Given the description of an element on the screen output the (x, y) to click on. 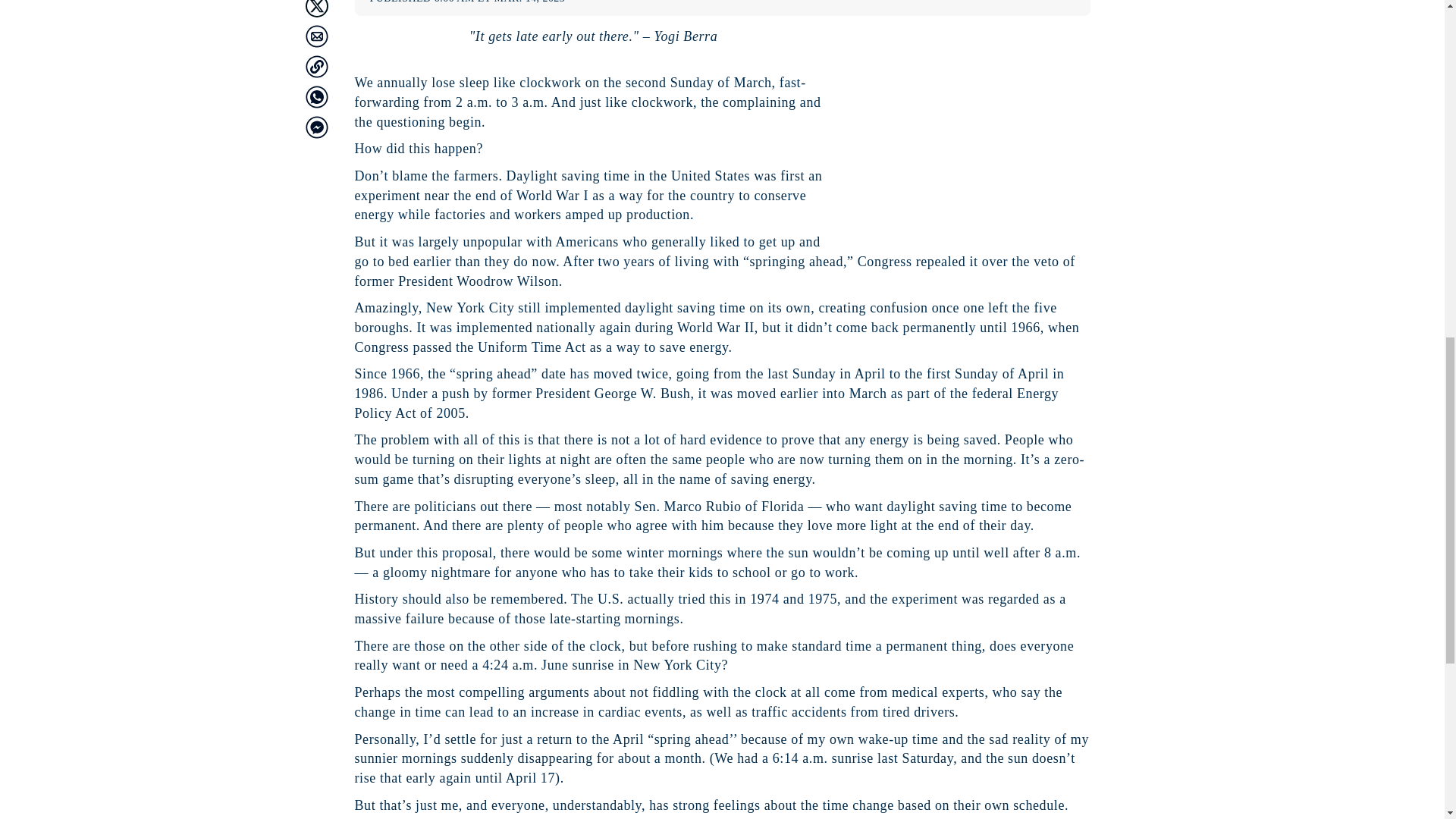
Share with Twitter (315, 8)
Share with Email (315, 35)
Share with Facebook Messenger (315, 126)
Share with Whatsapp (315, 96)
Copy article link (315, 65)
